Given the description of an element on the screen output the (x, y) to click on. 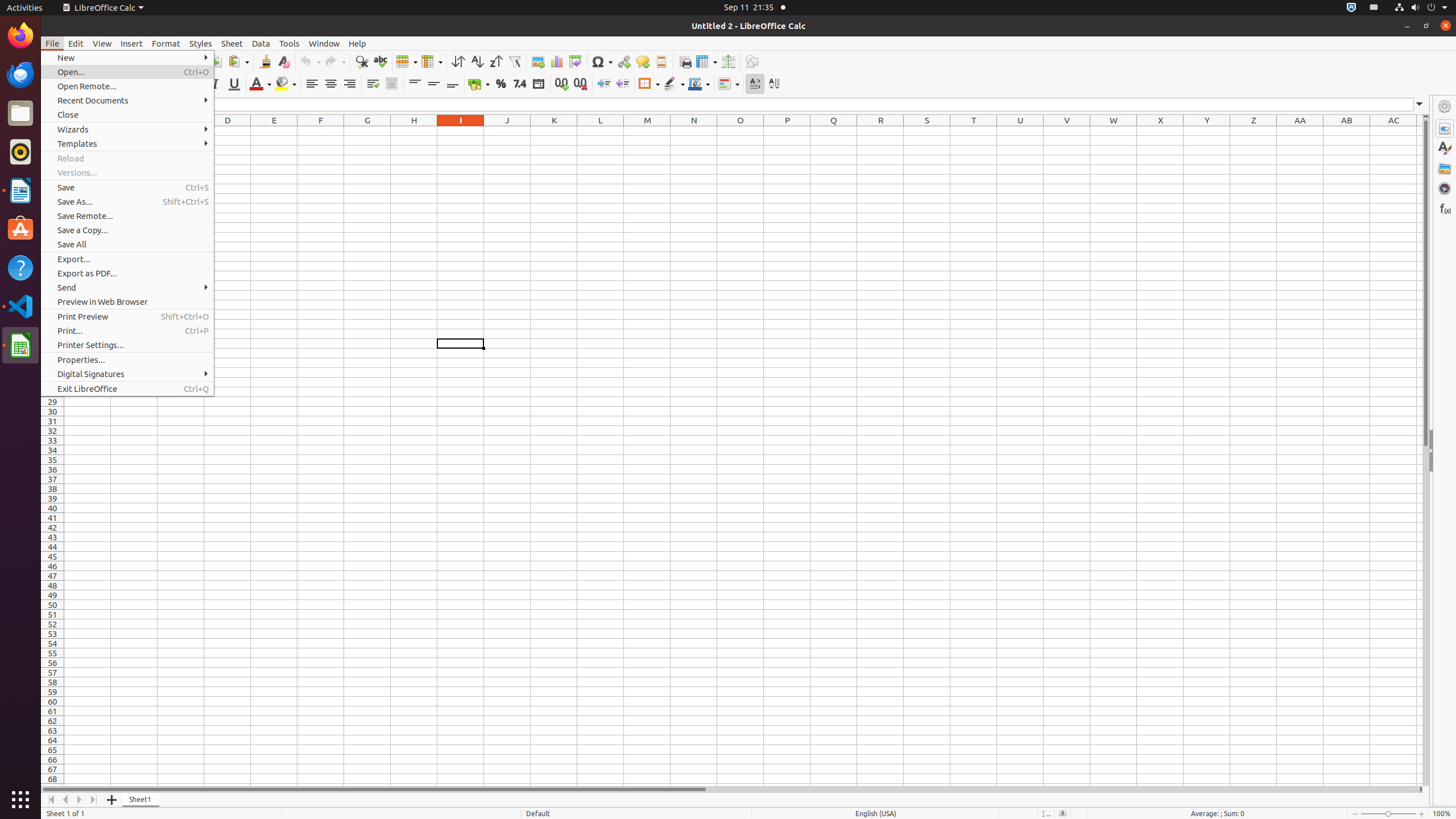
M1 Element type: table-cell (646, 130)
Center Vertically Element type: push-button (433, 83)
Properties Element type: radio-button (1444, 128)
View Element type: menu (102, 43)
Close Element type: menu-item (126, 114)
